Given the description of an element on the screen output the (x, y) to click on. 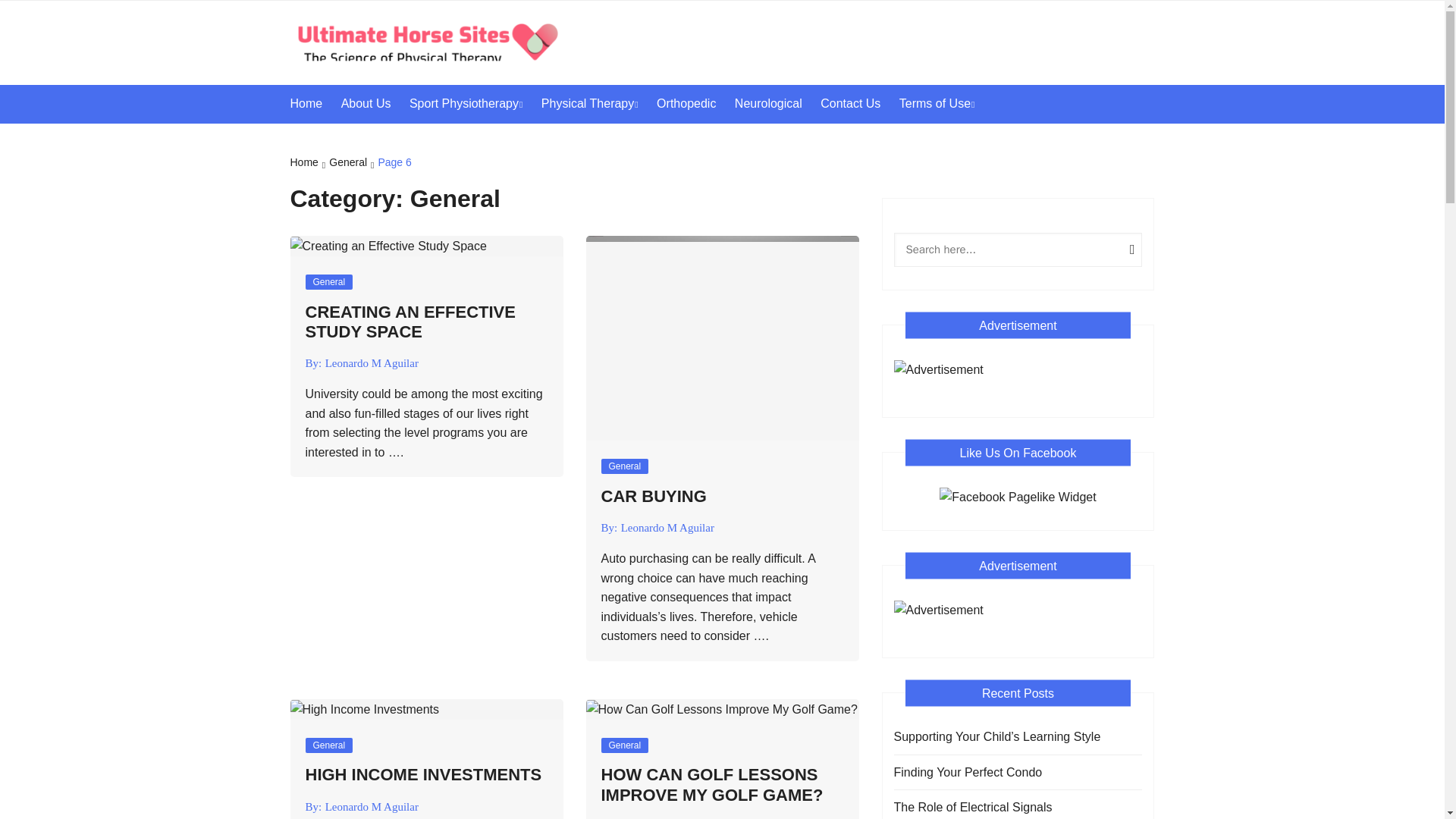
Physical Therapy (597, 104)
Leonardo M Aguilar (667, 527)
CAR BUYING (652, 496)
Home (313, 103)
Cardiovascular (503, 140)
Sport Physiotherapy (473, 104)
General (623, 744)
Contact Us (858, 103)
Geriatric (635, 140)
HOW CAN GOLF LESSONS IMPROVE MY GOLF GAME? (710, 783)
